Given the description of an element on the screen output the (x, y) to click on. 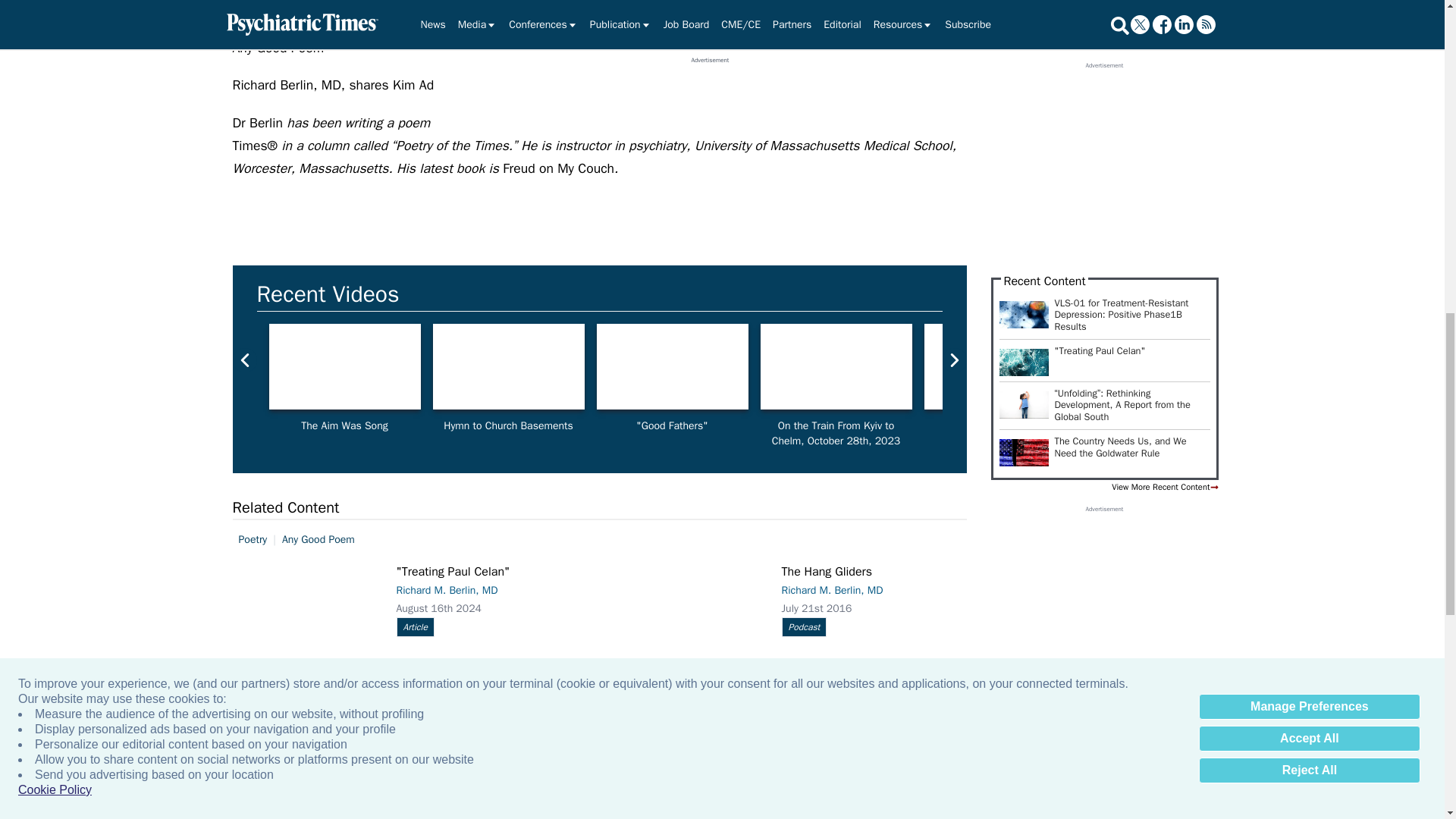
wind (343, 366)
support group (507, 366)
spinal tap (671, 366)
train (835, 366)
